Given the description of an element on the screen output the (x, y) to click on. 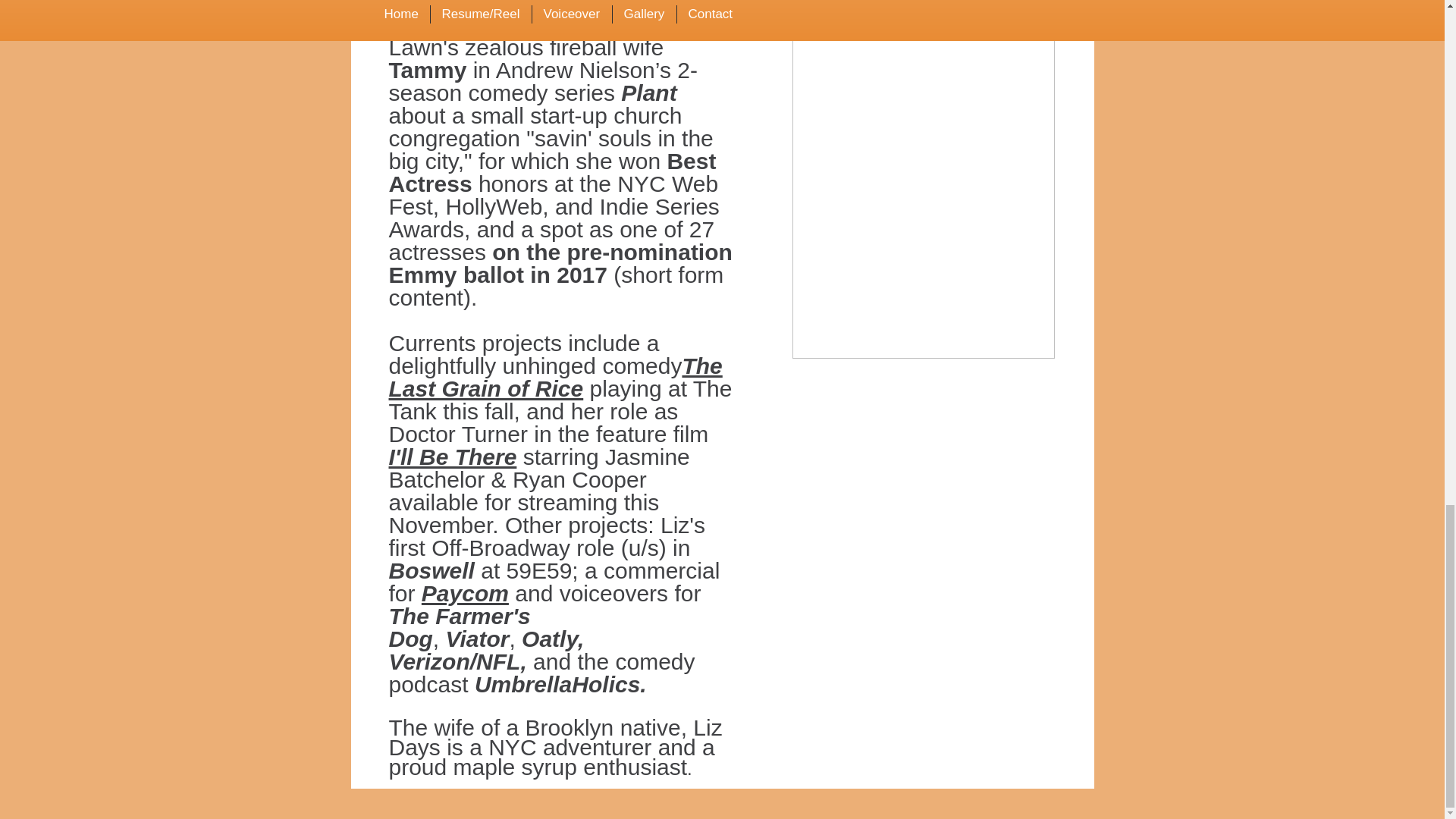
The Last Grain of Rice (555, 376)
Paycom (465, 593)
I'll Be There (452, 456)
